Given the description of an element on the screen output the (x, y) to click on. 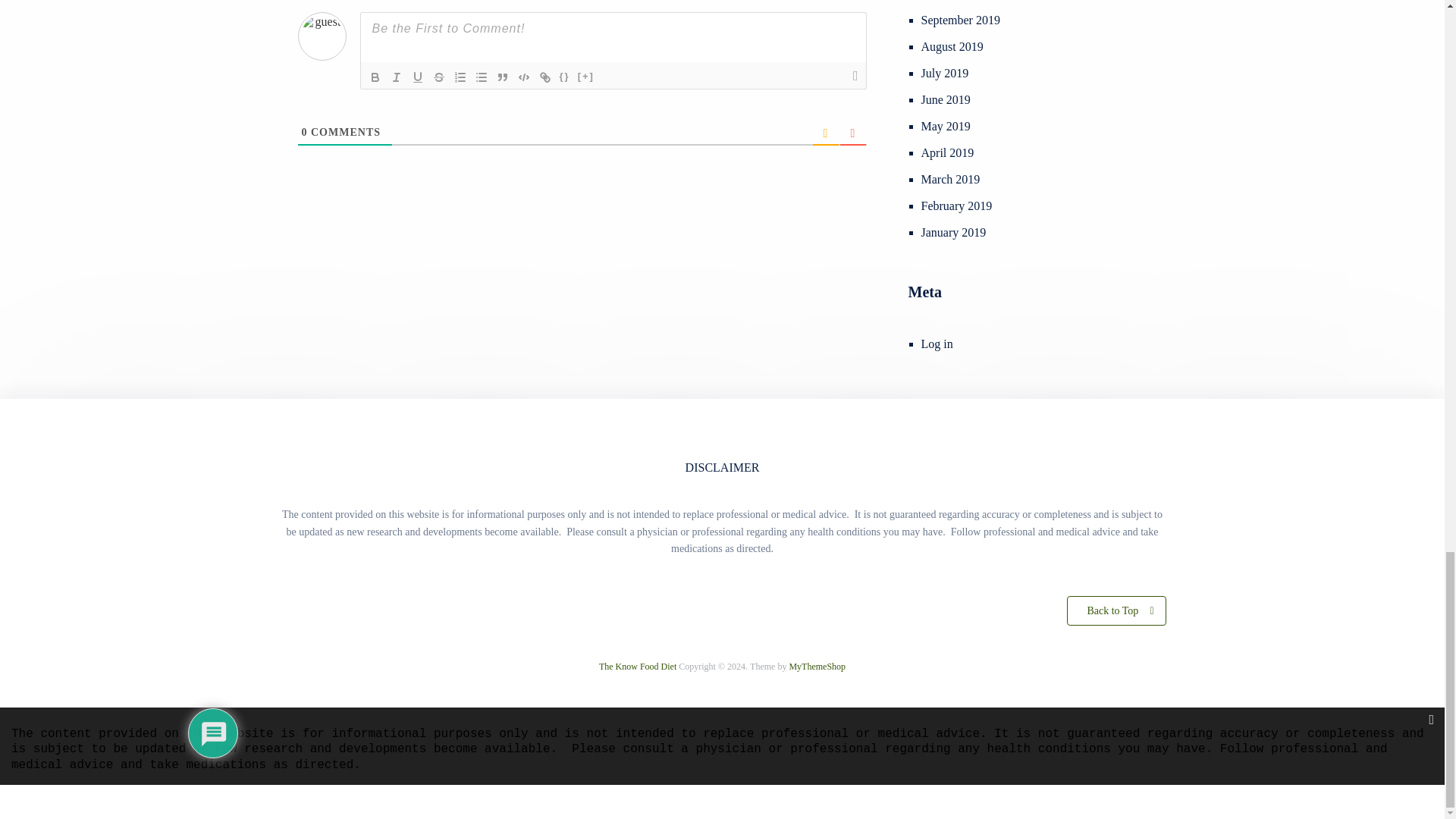
Link (544, 76)
Bold (374, 76)
Italic (395, 76)
Ordered List (459, 76)
Source Code (563, 76)
Blockquote (502, 76)
bullet (481, 76)
Spoiler (585, 76)
Strike (438, 76)
Underline (417, 76)
Code Block (523, 76)
ordered (459, 76)
Unordered List (481, 76)
